Given the description of an element on the screen output the (x, y) to click on. 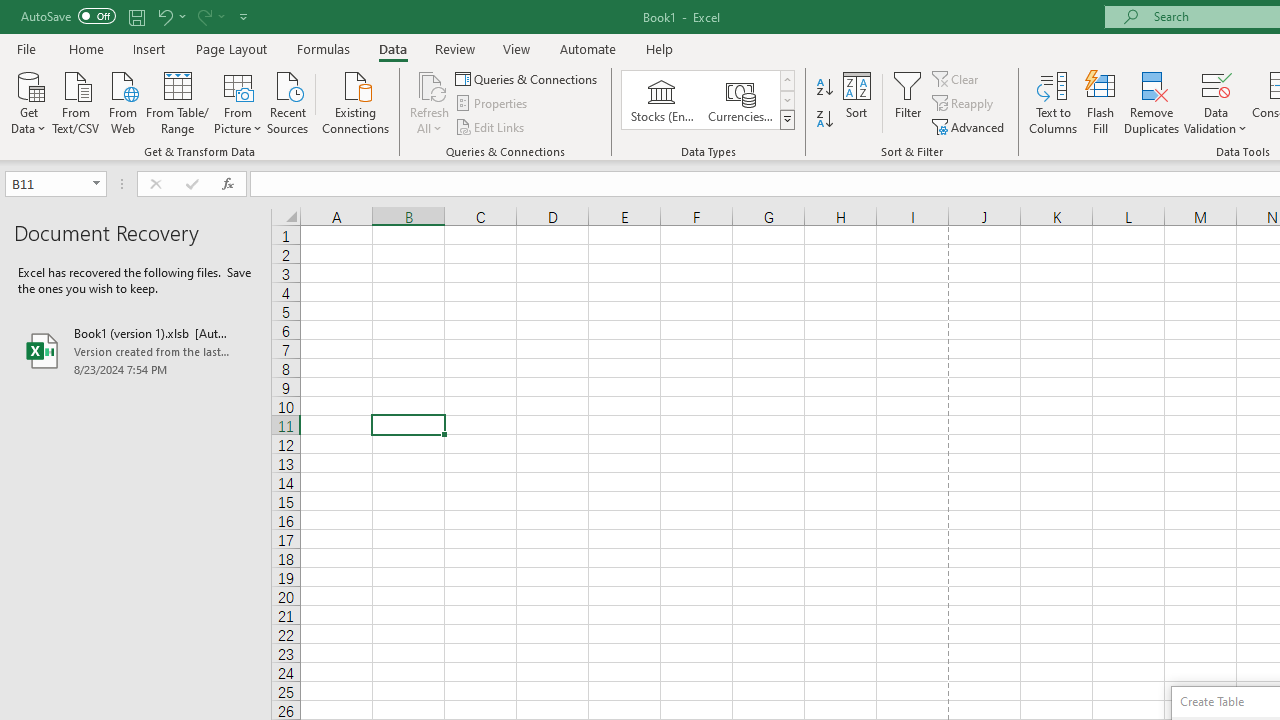
System (10, 11)
Advanced... (970, 126)
Currencies (English) (740, 100)
Quick Access Toolbar (136, 16)
Class: NetUIImage (787, 119)
Flash Fill (1101, 102)
From Picture (238, 101)
Save (136, 15)
Review (454, 48)
Get Data (28, 101)
Undo (164, 15)
Clear (957, 78)
Book1 (version 1).xlsb  [AutoRecovered] (136, 350)
Queries & Connections (527, 78)
Edit Links (491, 126)
